Given the description of an element on the screen output the (x, y) to click on. 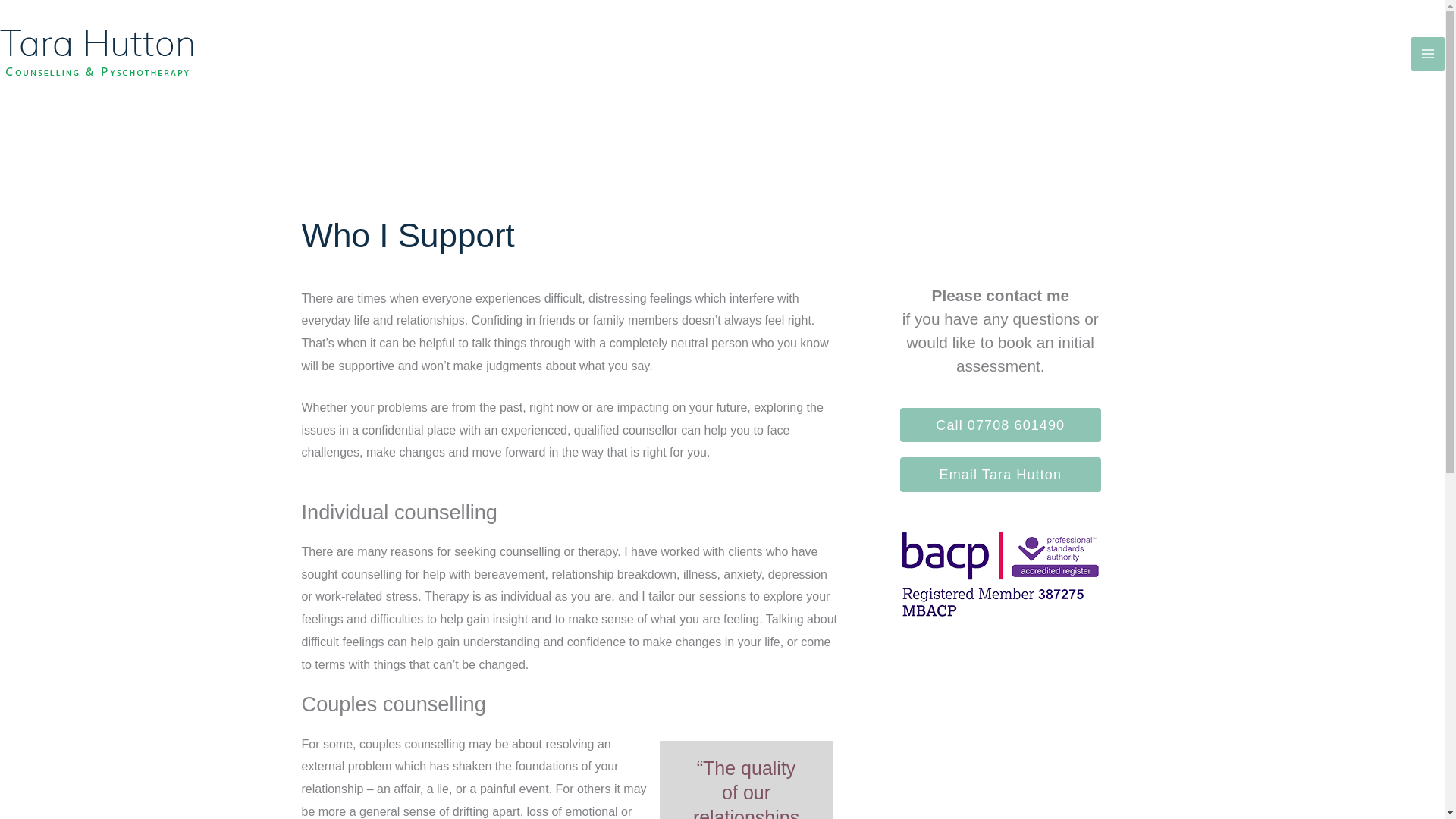
Call 07708 601490 (999, 424)
Email Tara Hutton (999, 474)
